Given the description of an element on the screen output the (x, y) to click on. 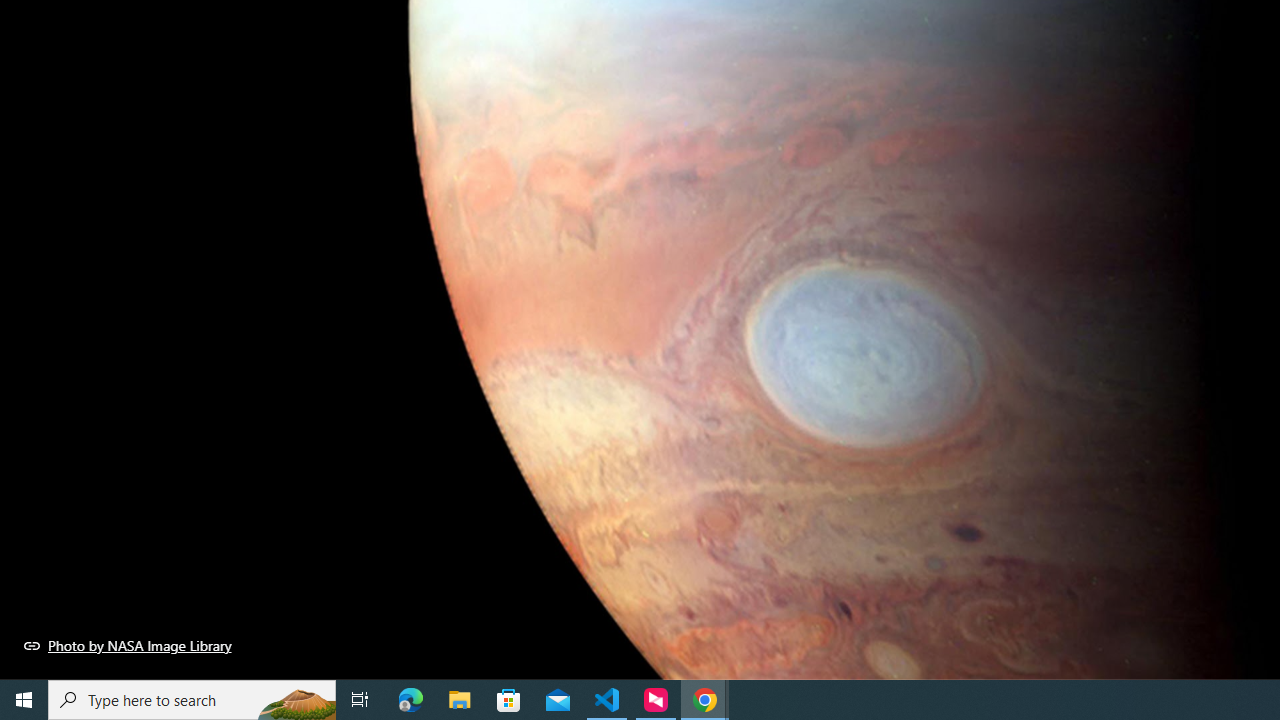
Photo by NASA Image Library (127, 645)
